Given the description of an element on the screen output the (x, y) to click on. 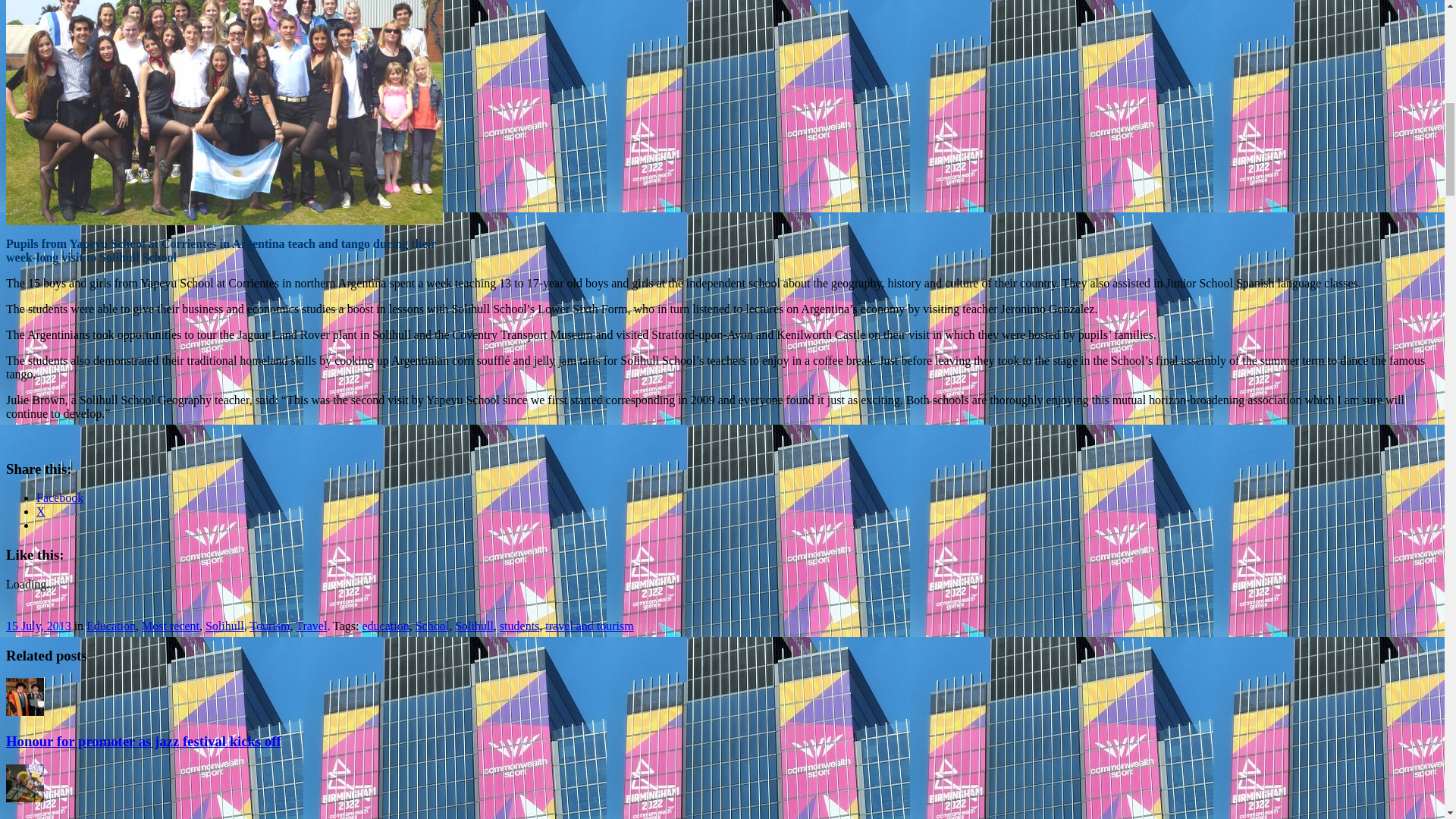
Travel (310, 625)
students (518, 625)
Permalink to Honour for promoter as jazz festival kicks off (143, 741)
Solihull (473, 625)
Click to share on Facebook (59, 497)
Tourism (268, 625)
School (431, 625)
Facebook (59, 497)
X (40, 511)
Solihull (224, 625)
education (385, 625)
15 July, 2013 (38, 625)
Most recent (170, 625)
Click to share on X (40, 511)
